Given the description of an element on the screen output the (x, y) to click on. 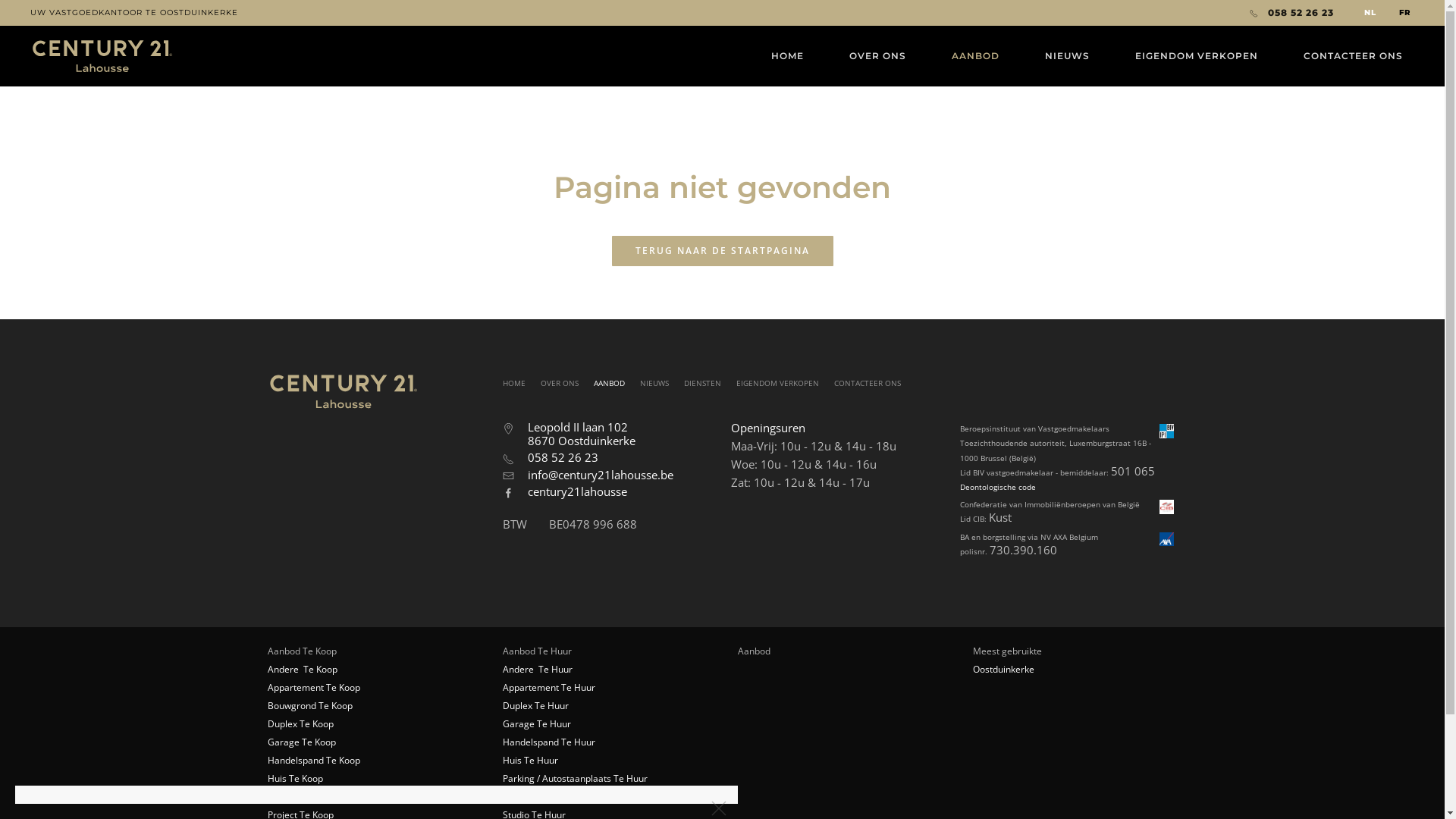
Garage Te Huur Element type: text (536, 723)
Handelspand Te Huur Element type: text (548, 741)
CONTACTEER ONS Element type: text (1353, 55)
CONTACTEER ONS Element type: text (867, 382)
EIGENDOM VERKOPEN Element type: text (1196, 55)
FR Element type: text (1404, 12)
info@century21lahousse.be Element type: text (600, 474)
058 52 26 23 Element type: text (1291, 12)
NIEUWS Element type: text (654, 382)
Huis Te Huur Element type: text (529, 759)
Handelspand Te Koop Element type: text (312, 759)
Bouwgrond Te Koop Element type: text (308, 705)
Huis Te Koop Element type: text (294, 777)
Duplex Te Huur Element type: text (534, 705)
Garage Te Koop Element type: text (300, 741)
HOME Element type: text (513, 382)
Appartement Te Koop Element type: text (312, 686)
Andere  Te Huur Element type: text (536, 668)
HOME Element type: text (787, 55)
AANBOD Element type: text (608, 382)
Duplex Te Koop Element type: text (299, 723)
NIEUWS Element type: text (1067, 55)
Andere  Te Koop Element type: text (301, 668)
TERUG NAAR DE STARTPAGINA Element type: text (721, 250)
NL Element type: text (1370, 12)
Parking / Autostaanplaats Te Huur Element type: text (574, 777)
058 52 26 23 Element type: text (562, 456)
Leopold II laan 102
8670 Oostduinkerke Element type: text (581, 433)
Parking / Autostaanplaats Te Koop Element type: text (338, 796)
AANBOD Element type: text (975, 55)
Oostduinkerke Element type: text (1002, 668)
EIGENDOM VERKOPEN Element type: text (776, 382)
Project Te Huur Element type: text (534, 796)
OVER ONS Element type: text (558, 382)
OVER ONS Element type: text (877, 55)
DIENSTEN Element type: text (702, 382)
Deontologische code Element type: text (997, 486)
Appartement Te Huur Element type: text (548, 686)
century21lahousse Element type: text (577, 490)
